Given the description of an element on the screen output the (x, y) to click on. 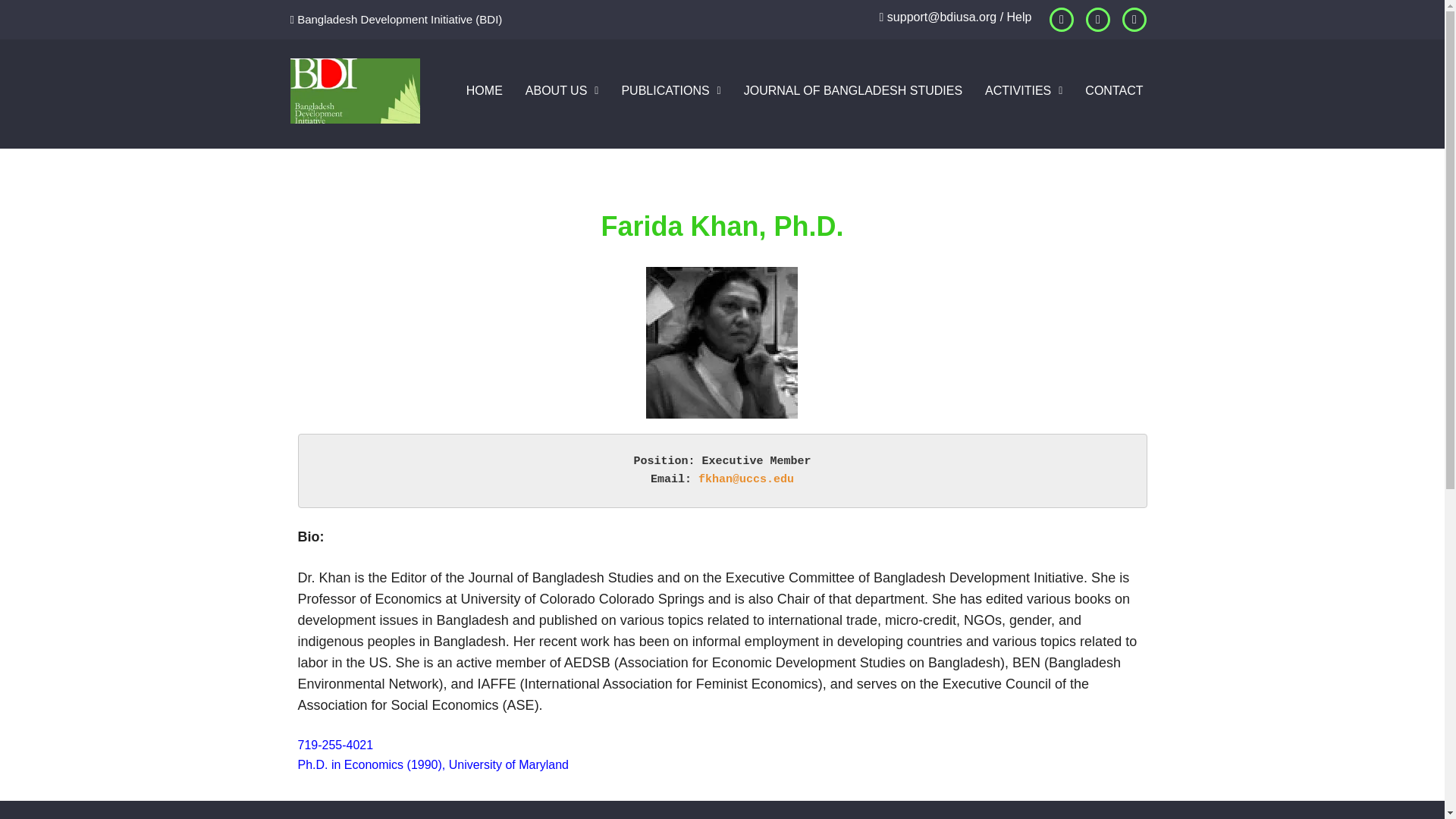
CONTACT (1114, 90)
ACTIVITIES (1024, 90)
ABOUT US (561, 90)
HOME (483, 90)
PUBLICATIONS (671, 90)
JOURNAL OF BANGLADESH STUDIES (853, 90)
